Given the description of an element on the screen output the (x, y) to click on. 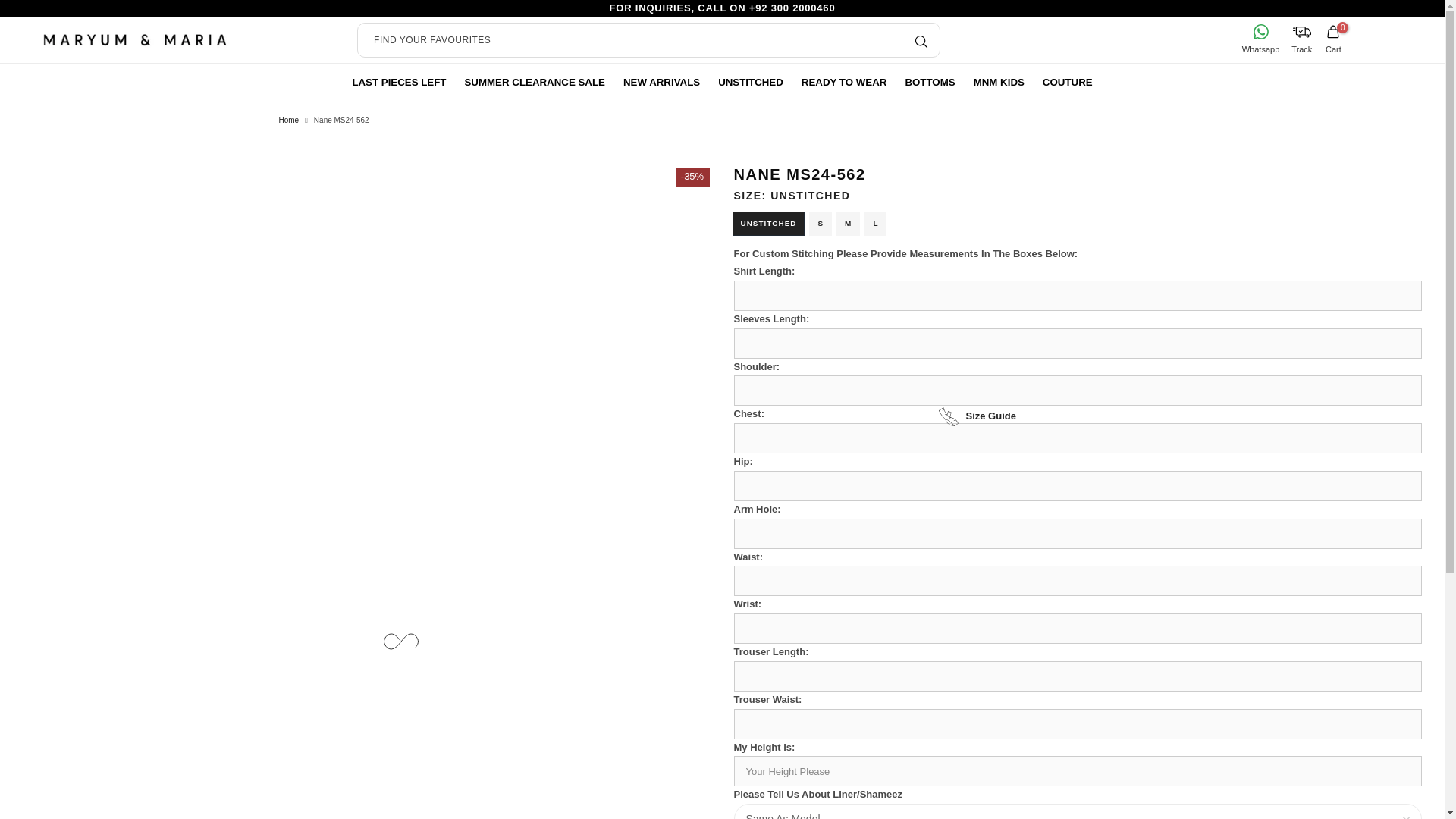
READY TO WEAR (844, 82)
MNM KIDS (998, 82)
Whatsapp (1260, 39)
COUTURE (1067, 82)
NEW ARRIVALS (661, 82)
LAST PIECES LEFT (398, 82)
SUMMER CLEARANCE SALE (533, 82)
Home (289, 120)
UNSTITCHED (750, 82)
BOTTOMS (929, 82)
